Given the description of an element on the screen output the (x, y) to click on. 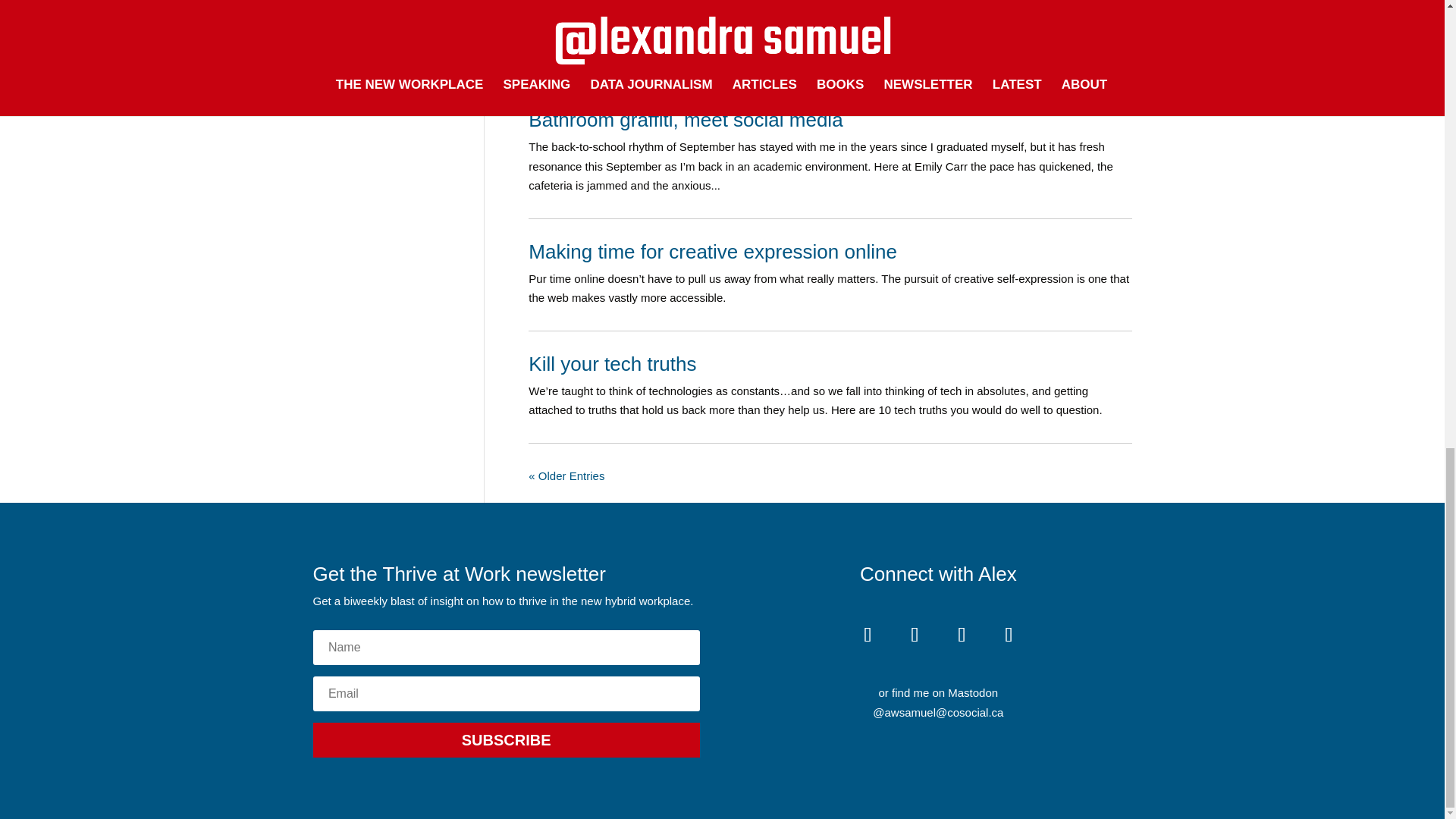
Bathroom graffiti, meet social media (685, 119)
Kill your tech truths (611, 363)
Follow on Twitter (1008, 634)
Making time for creative expression online (712, 251)
Follow on Medium (867, 634)
Follow on Facebook (960, 634)
Follow on LinkedIn (913, 634)
